Given the description of an element on the screen output the (x, y) to click on. 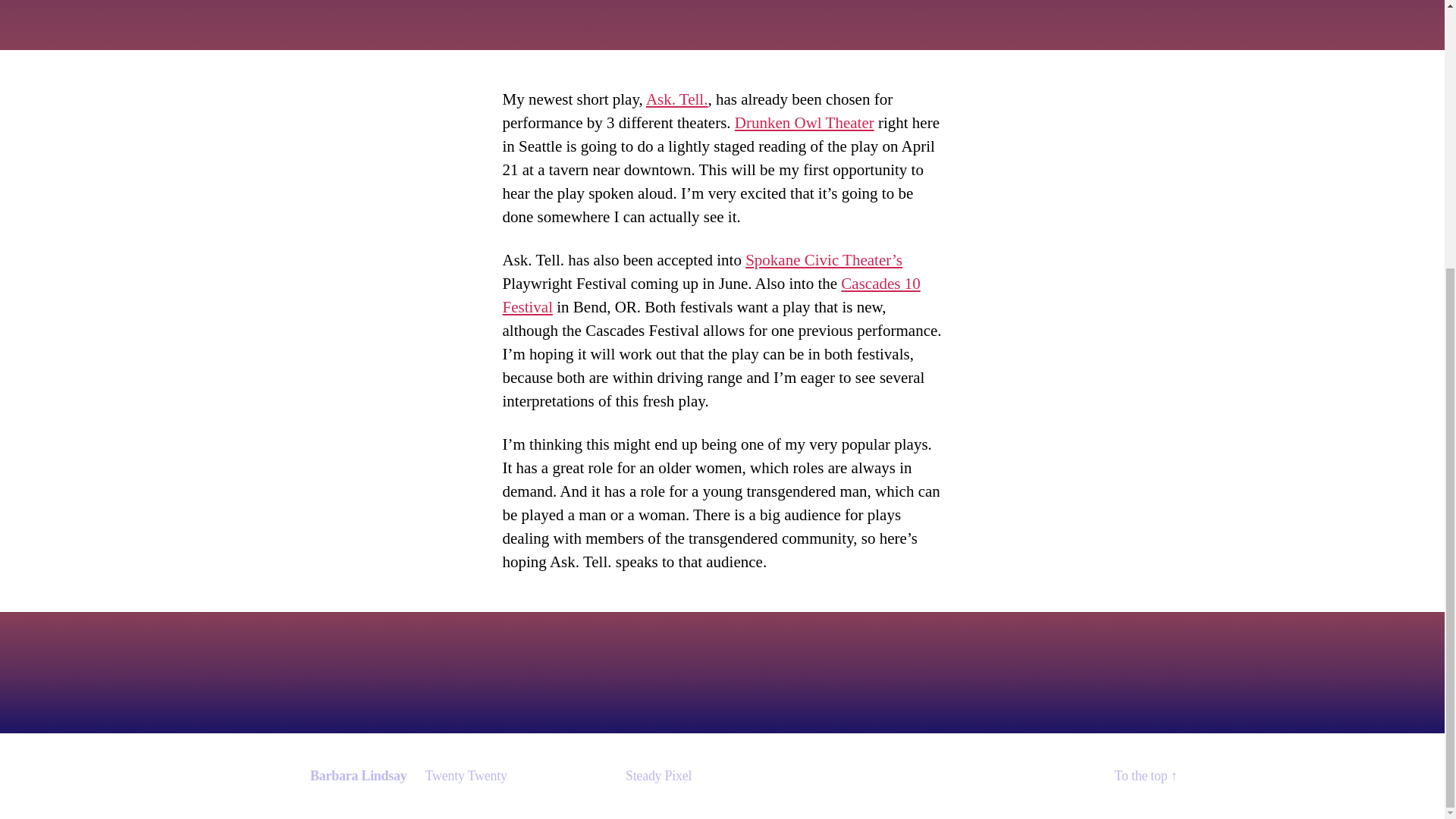
Barbara Lindsay (358, 775)
Cascades 10 Festival (711, 295)
Drunken Owl Theater (805, 122)
Steady Pixel (658, 775)
Twenty Twenty (465, 775)
Ask. Tell. (676, 99)
